Given the description of an element on the screen output the (x, y) to click on. 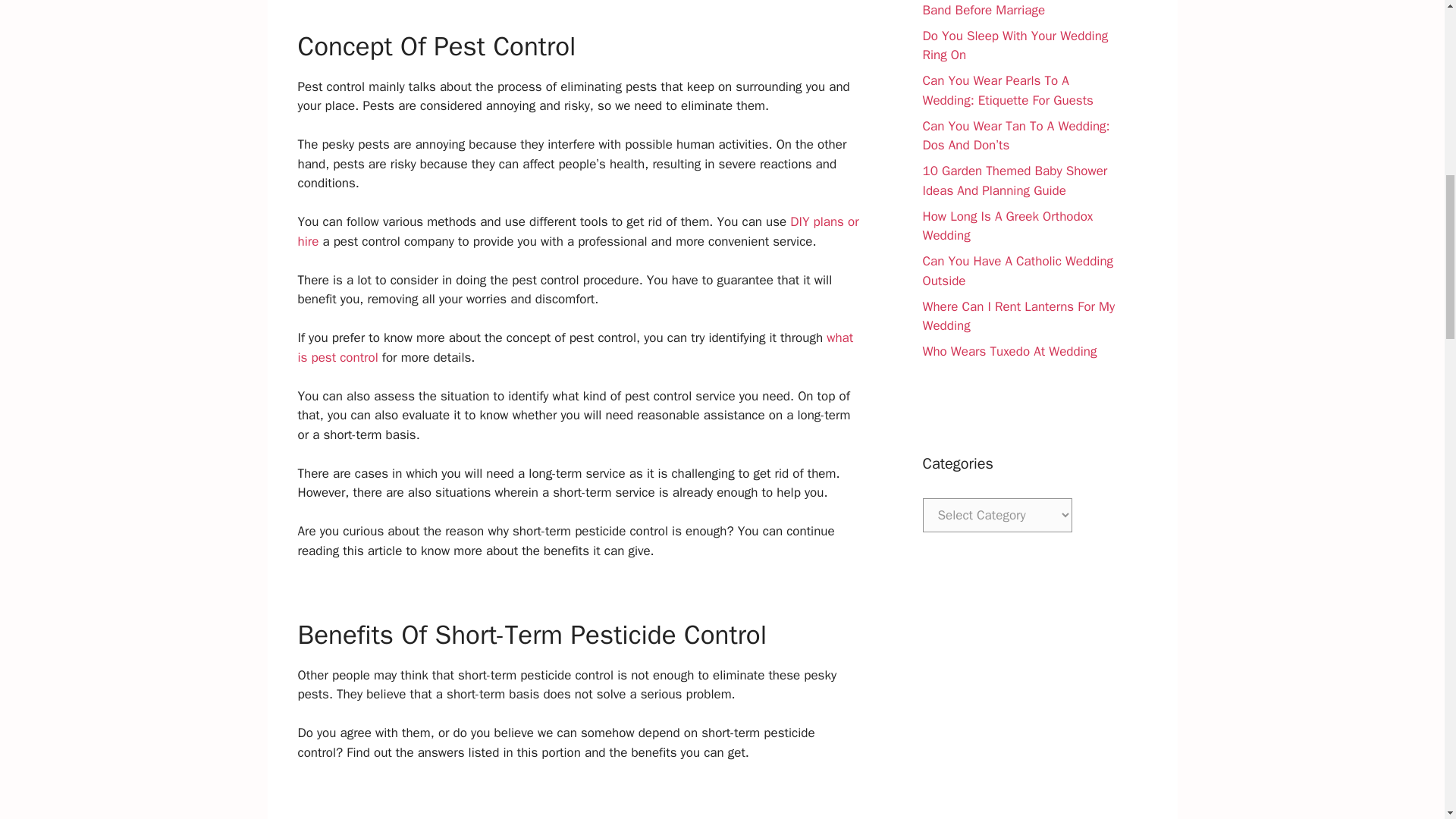
Scroll back to top (1406, 720)
